Given the description of an element on the screen output the (x, y) to click on. 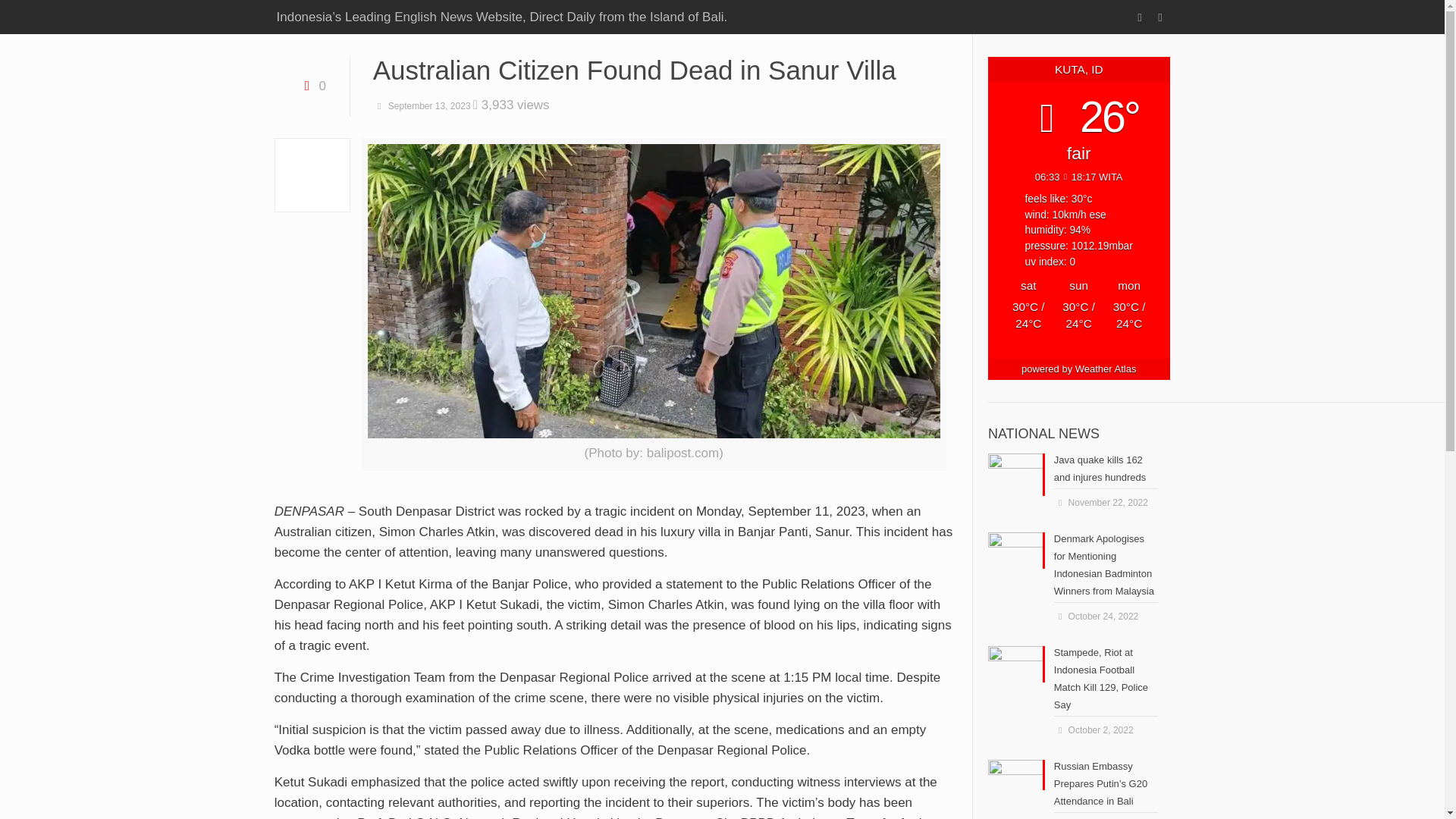
Facebook (1139, 16)
Twitter (1161, 16)
Partly Cloudy (1027, 324)
Partly Cloudy (1077, 324)
Partly Cloudy (1128, 324)
